Given the description of an element on the screen output the (x, y) to click on. 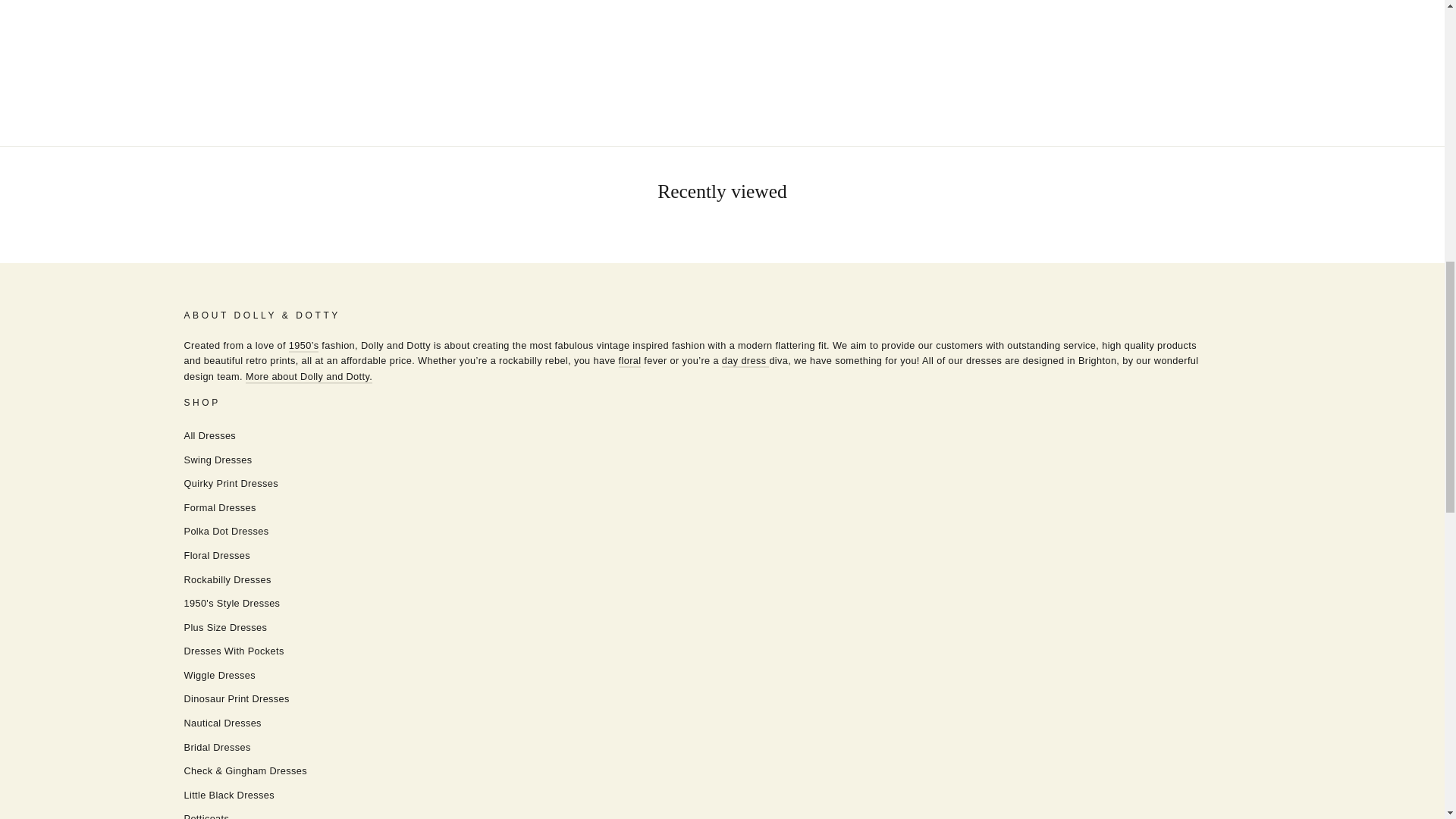
1950's Style Dresses (303, 345)
Floral Dresses (630, 360)
Casual Dresses (746, 360)
